Given the description of an element on the screen output the (x, y) to click on. 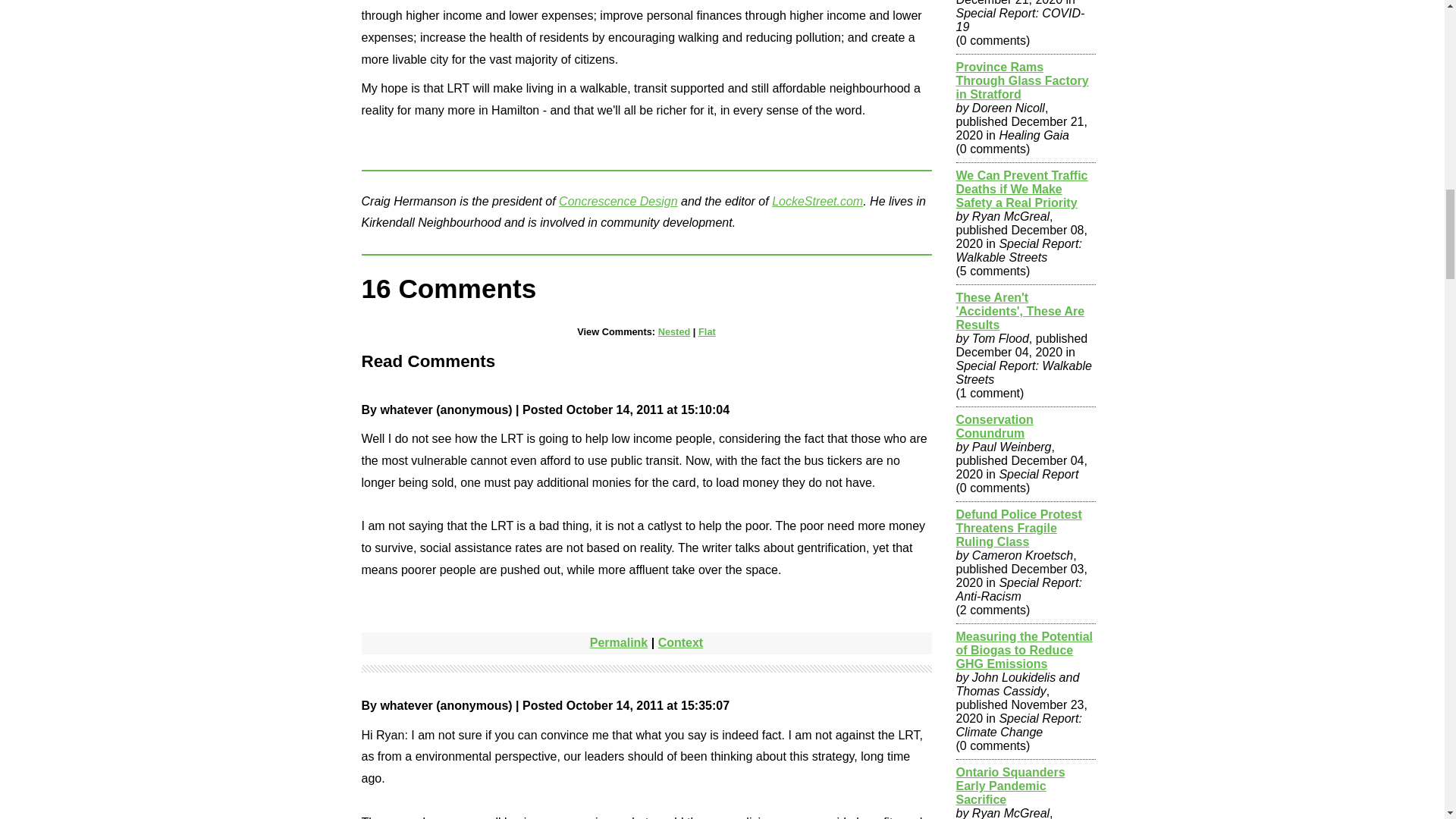
Concrescence Design (618, 200)
Link to this comment in the comment thread (680, 642)
Context (680, 642)
Permalink (618, 642)
Flat (707, 331)
Nested (674, 331)
Permanent URL for this comment (618, 642)
